Given the description of an element on the screen output the (x, y) to click on. 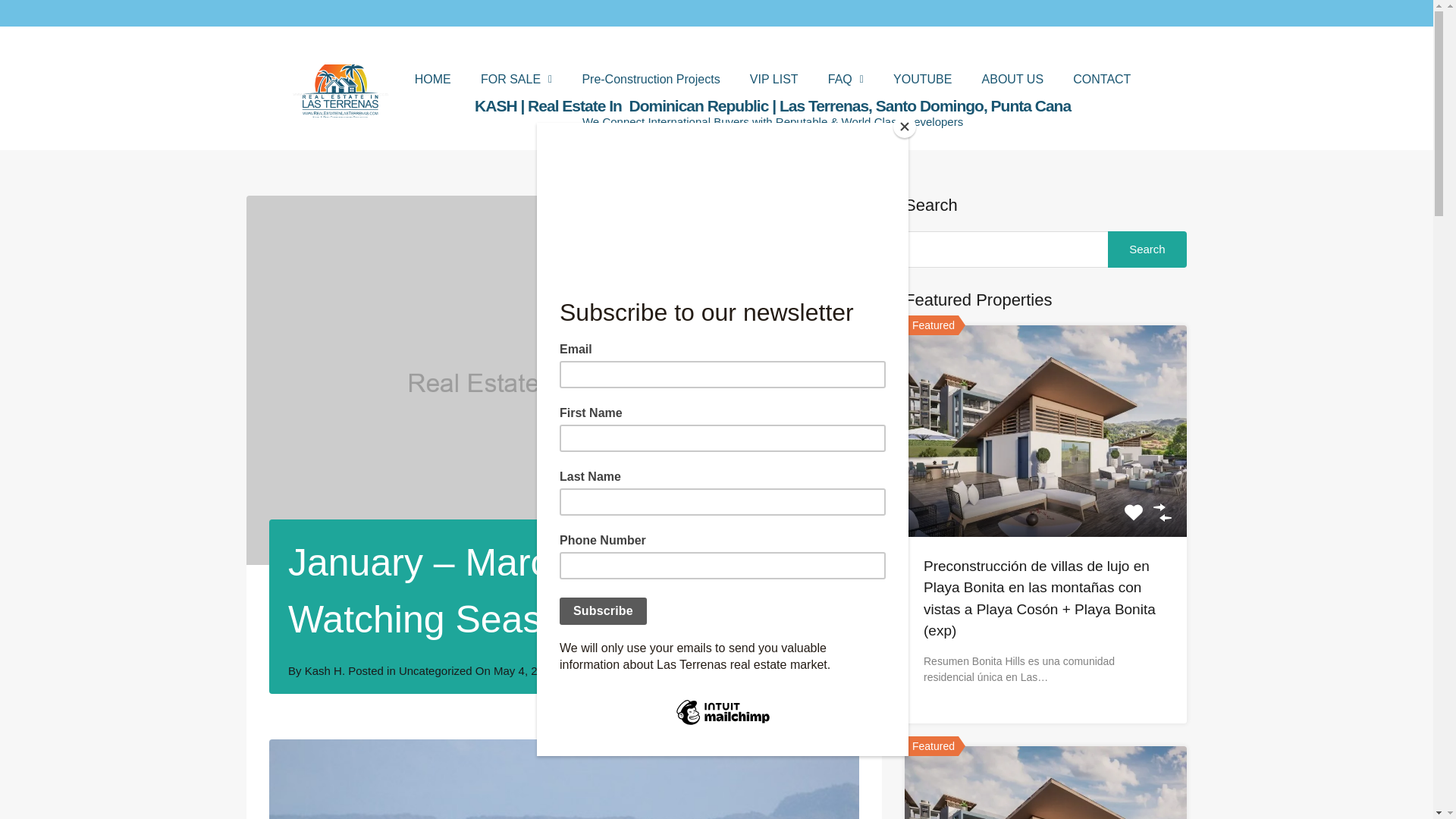
HOME (431, 79)
Search (1147, 248)
las-terrenas-logo (340, 90)
FOR SALE (515, 79)
